Given the description of an element on the screen output the (x, y) to click on. 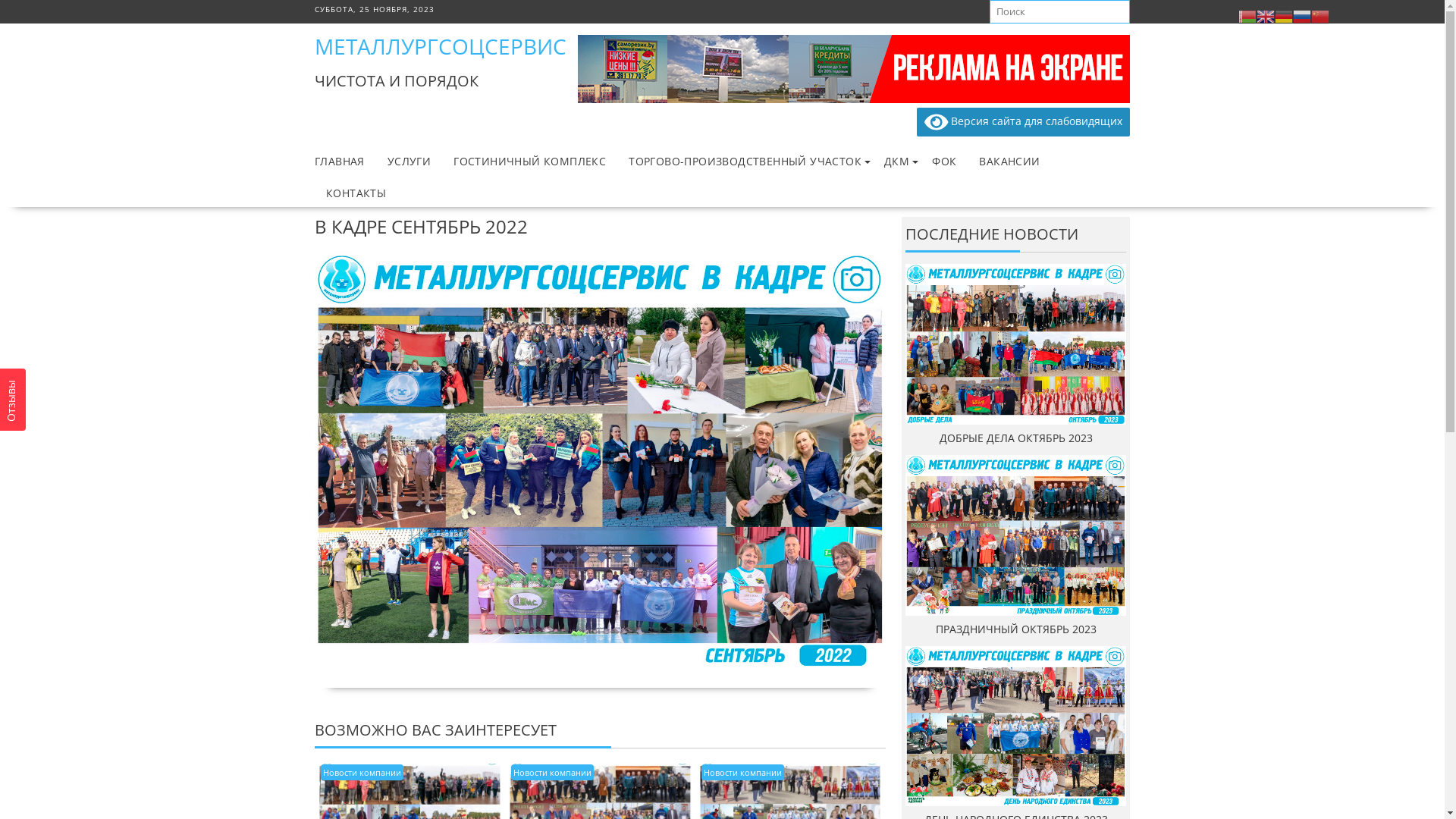
Skip to content Element type: text (0, 0)
Deutsch Element type: hover (1283, 15)
English Element type: hover (1265, 15)
